Given the description of an element on the screen output the (x, y) to click on. 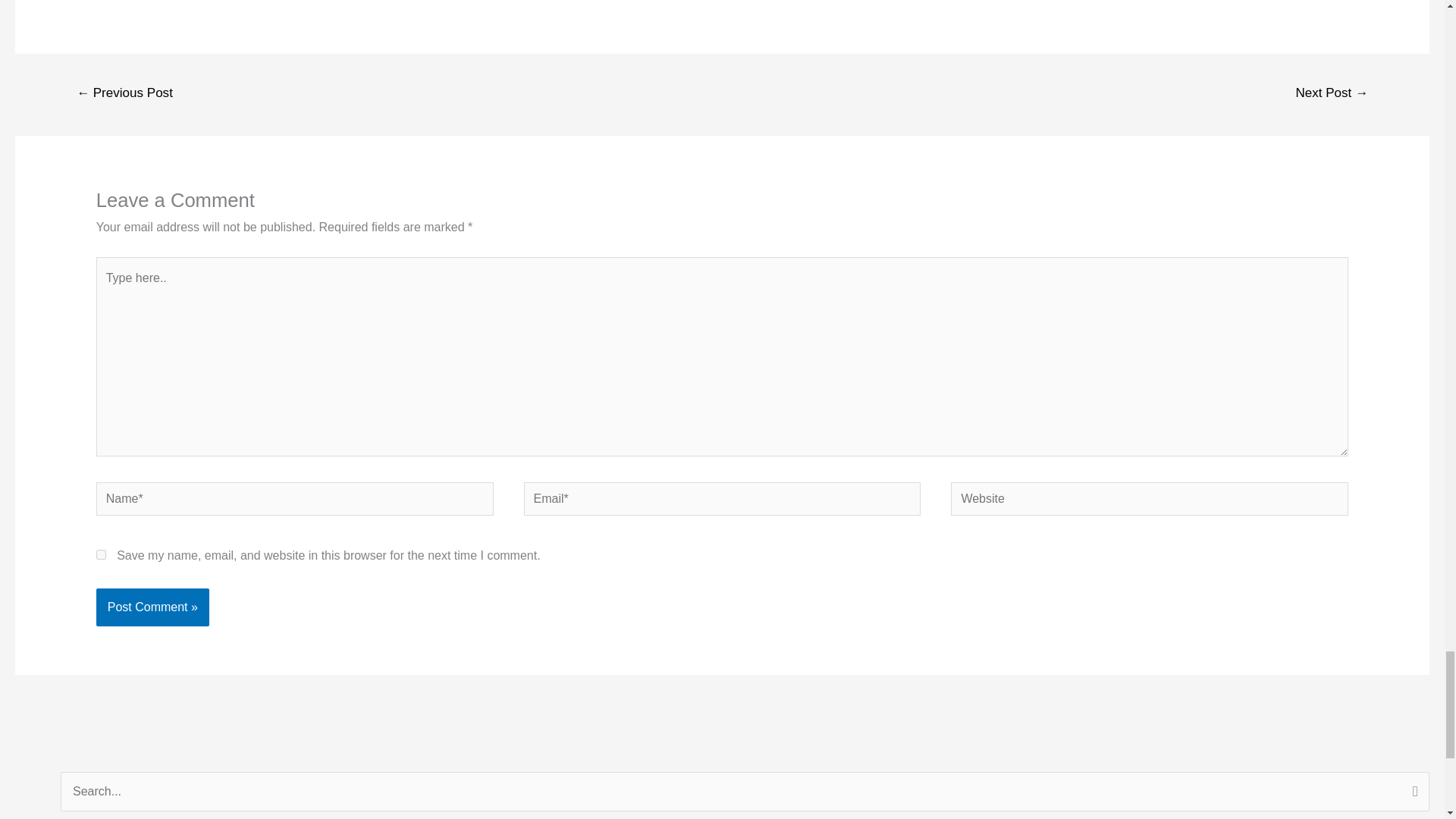
yes (101, 554)
